Given the description of an element on the screen output the (x, y) to click on. 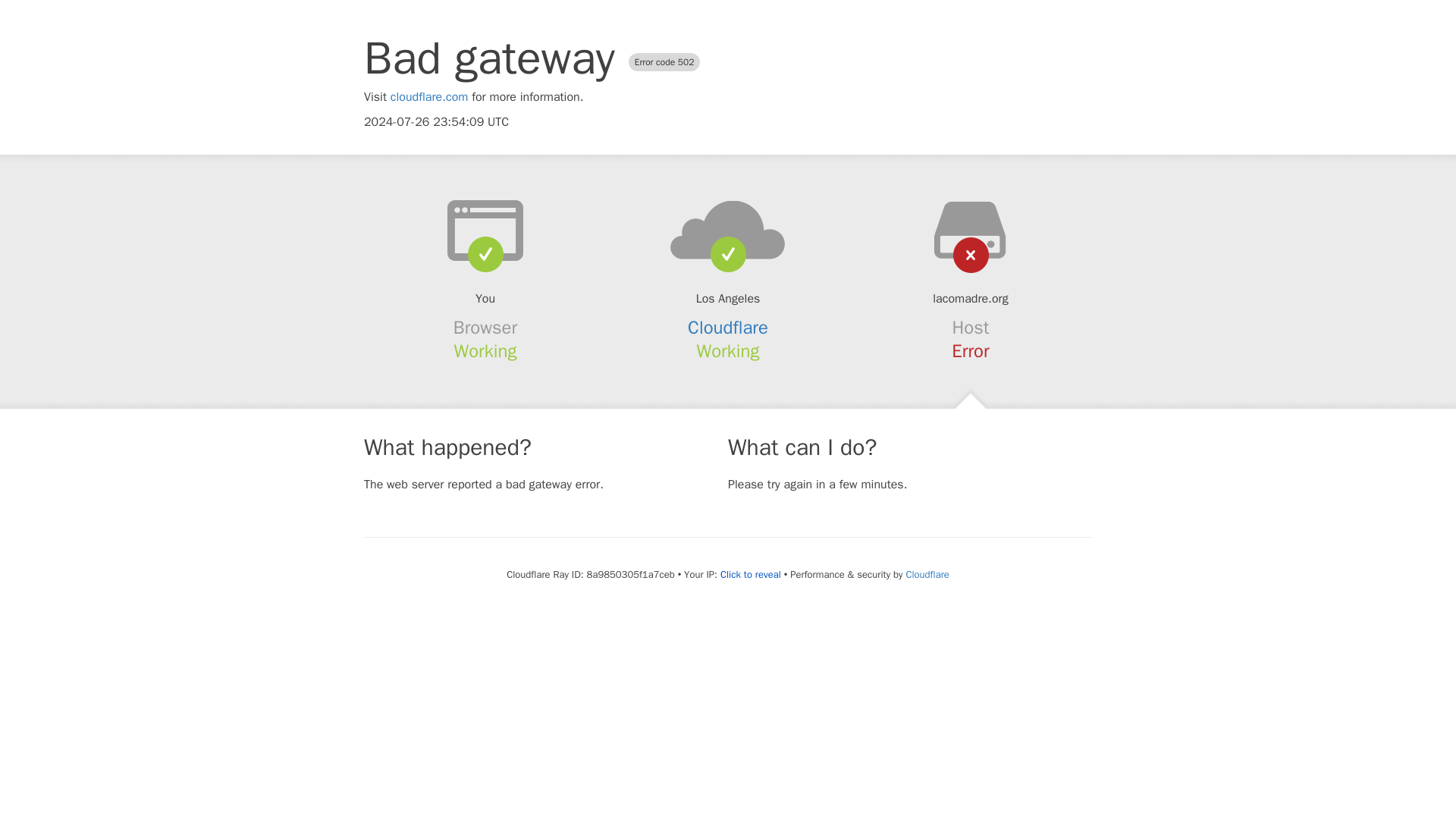
Cloudflare (727, 327)
Click to reveal (750, 574)
Cloudflare (927, 574)
cloudflare.com (429, 96)
